Given the description of an element on the screen output the (x, y) to click on. 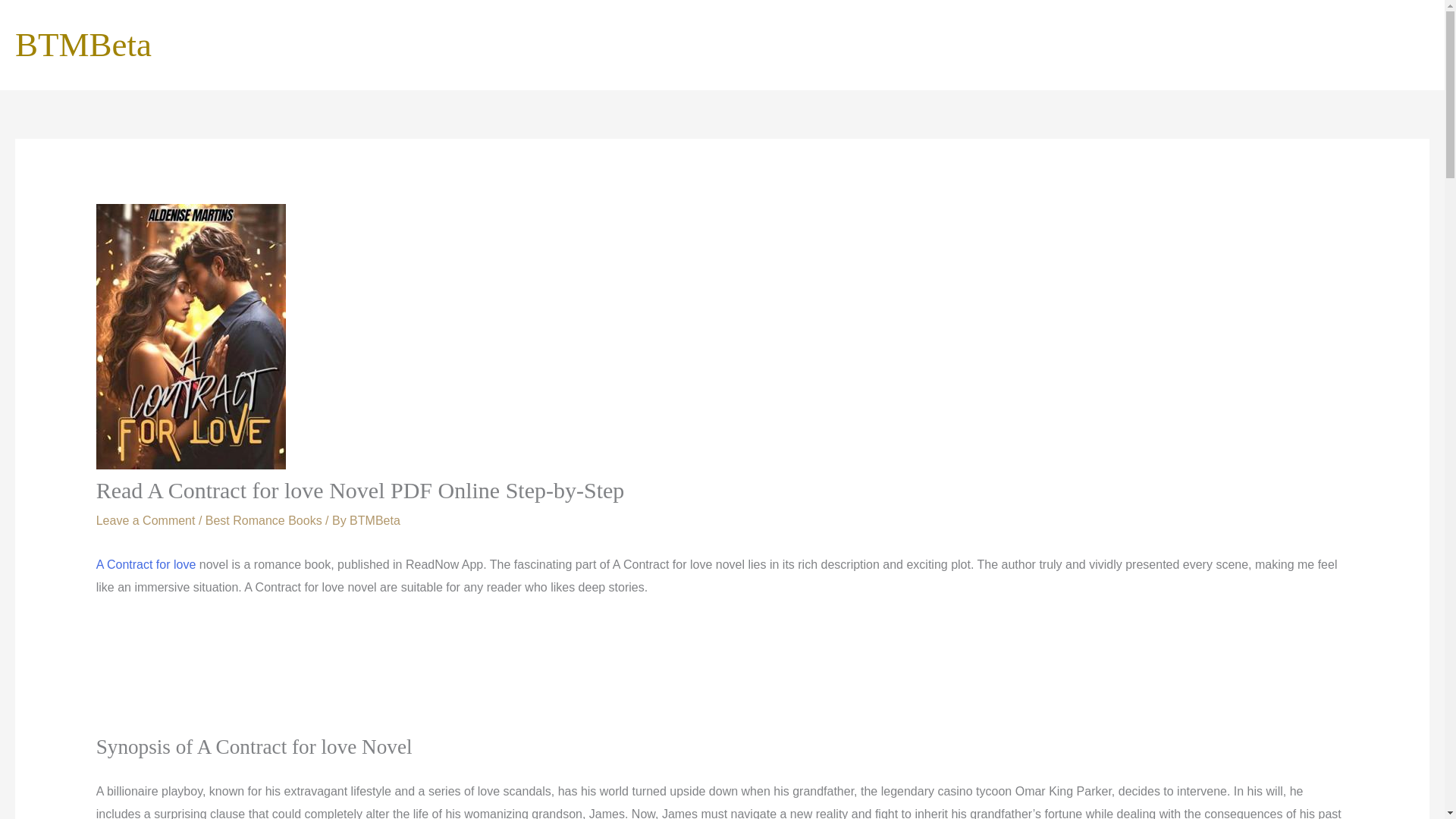
BTMBeta (374, 520)
Best Romance Books (263, 520)
A Contract for love (146, 563)
BTMBeta (82, 44)
Leave a Comment (145, 520)
View all posts by BTMBeta (374, 520)
Advertisement (721, 675)
